Given the description of an element on the screen output the (x, y) to click on. 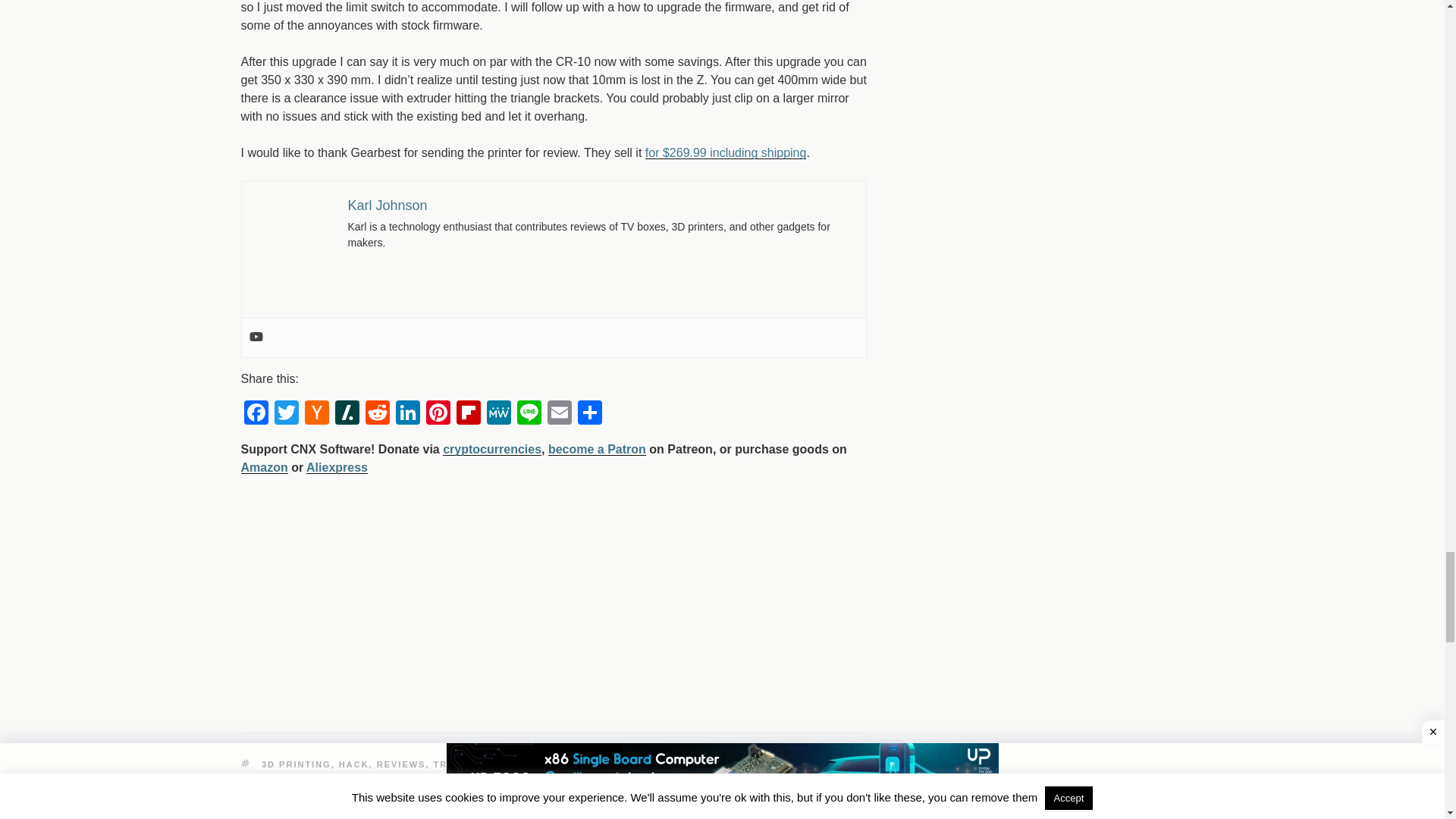
Flipboard (467, 414)
Twitter (285, 414)
Pinterest (437, 414)
Facebook (255, 414)
LinkedIn (408, 414)
Hacker News (316, 414)
Slashdot (346, 414)
MeWe (498, 414)
Line (528, 414)
Reddit (377, 414)
